Given the description of an element on the screen output the (x, y) to click on. 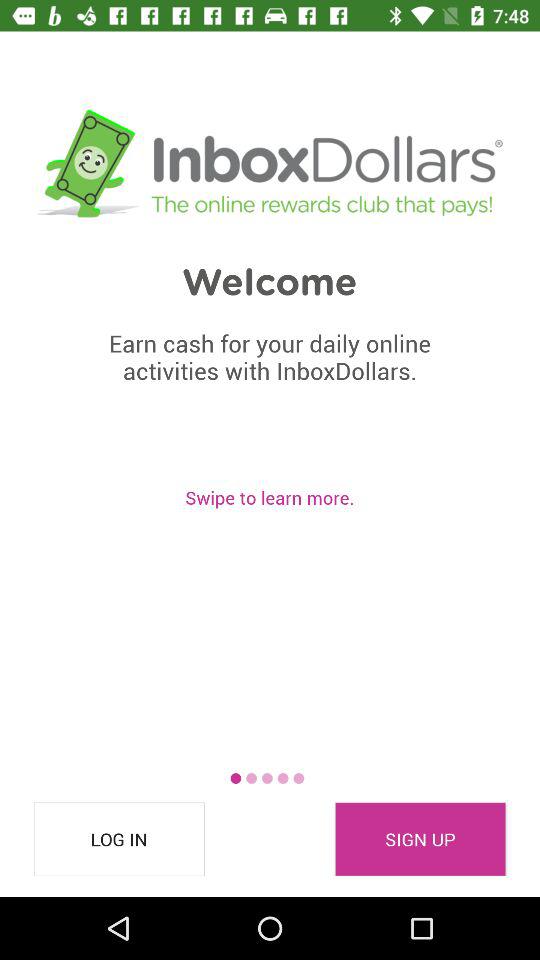
turn off the icon next to the log in icon (420, 839)
